Given the description of an element on the screen output the (x, y) to click on. 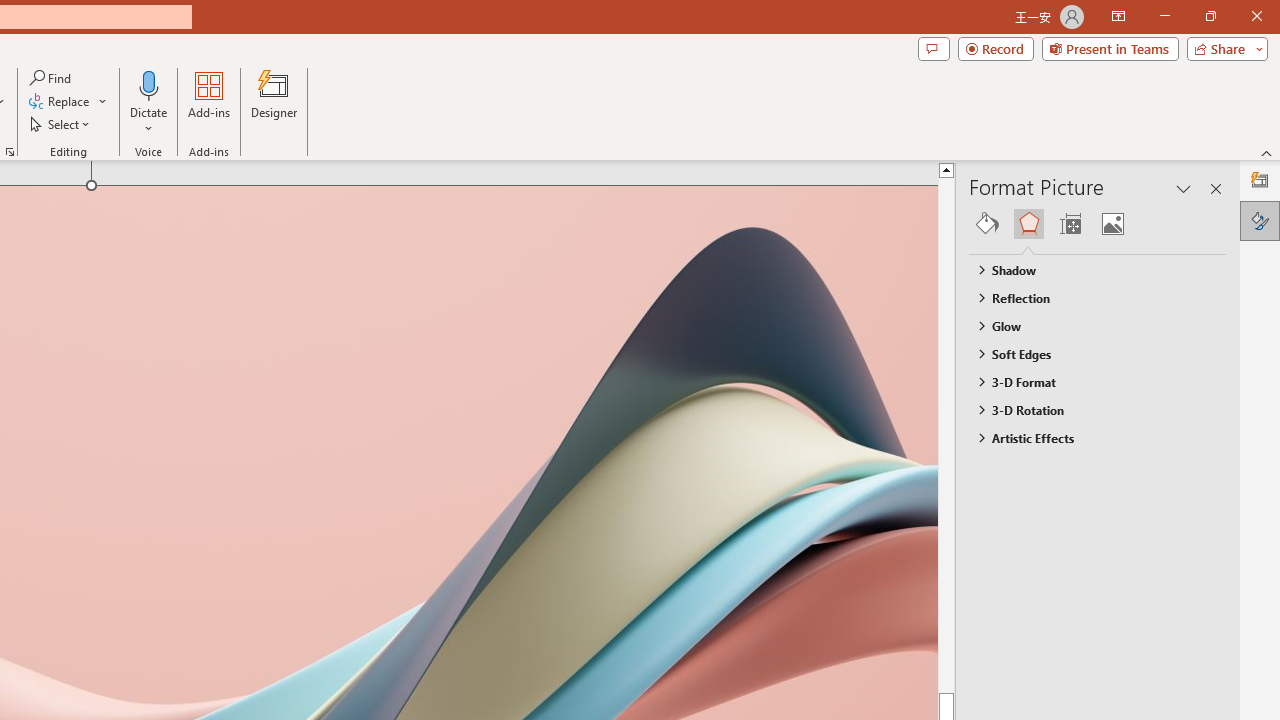
Format Picture (1260, 220)
